Given the description of an element on the screen output the (x, y) to click on. 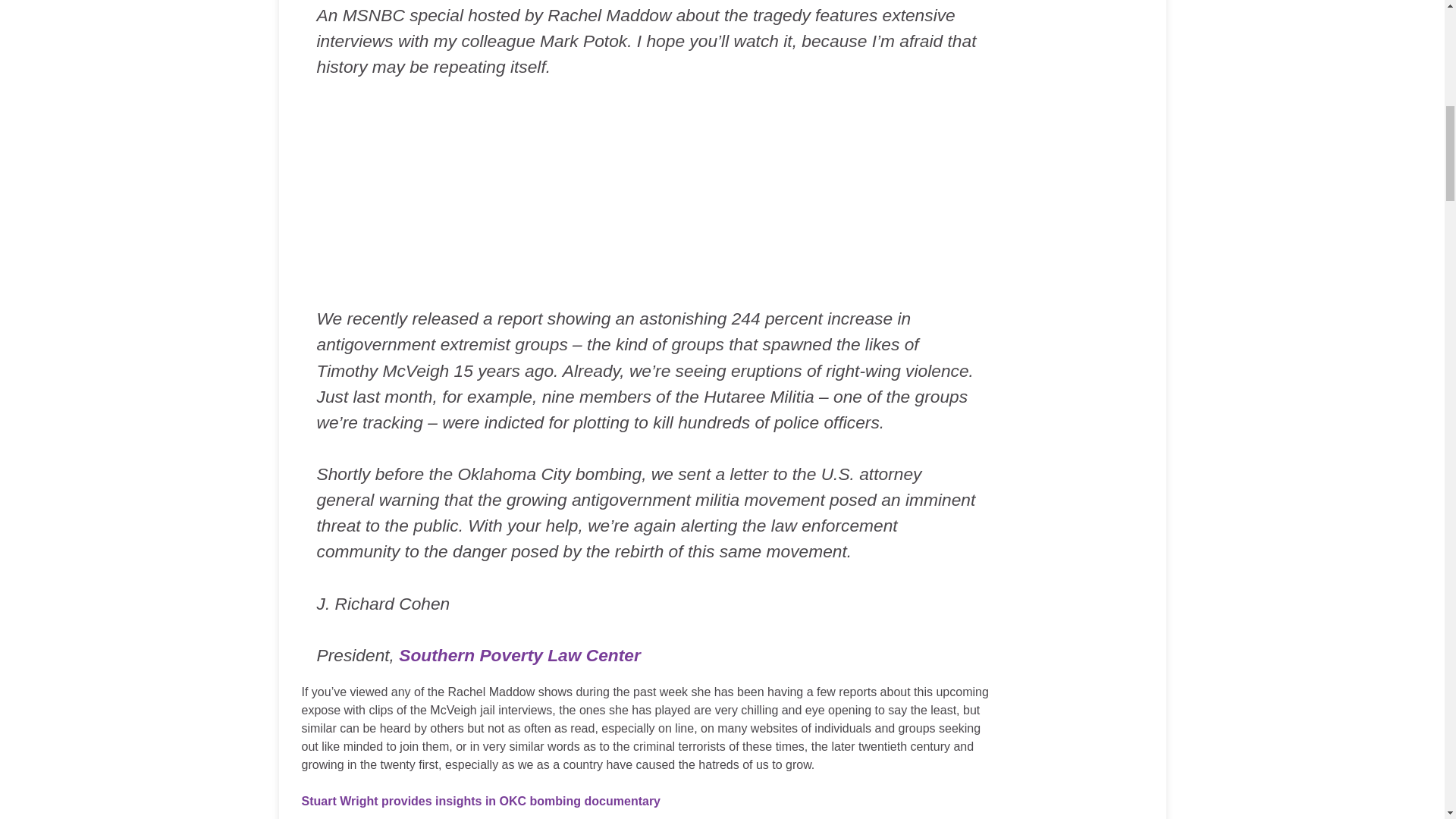
Stuart Wright provides insights in OKC bombing documentary (481, 800)
Southern Poverty Law Center (519, 655)
